Given the description of an element on the screen output the (x, y) to click on. 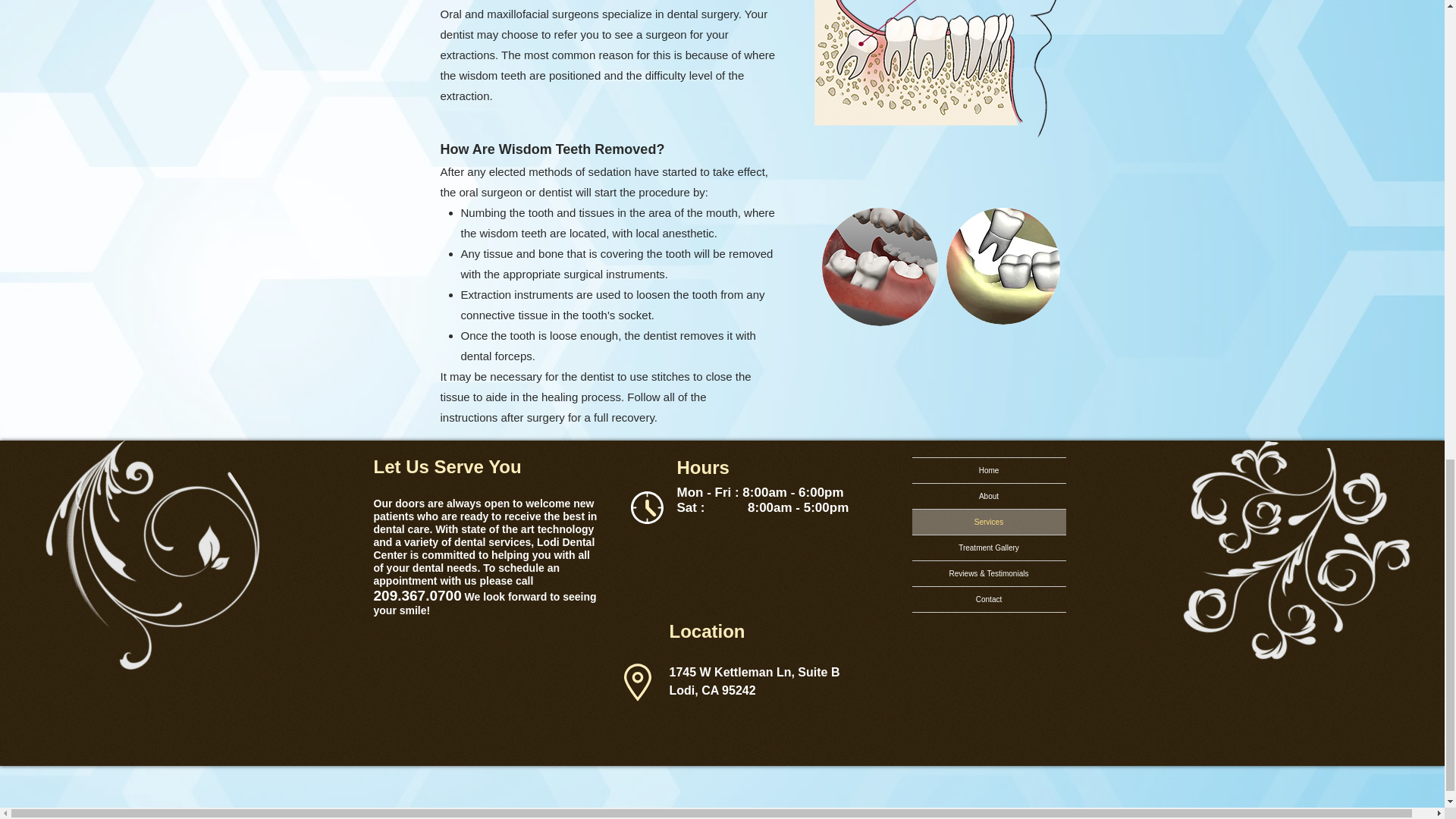
Home (988, 470)
Services (988, 521)
About (988, 496)
